Given the description of an element on the screen output the (x, y) to click on. 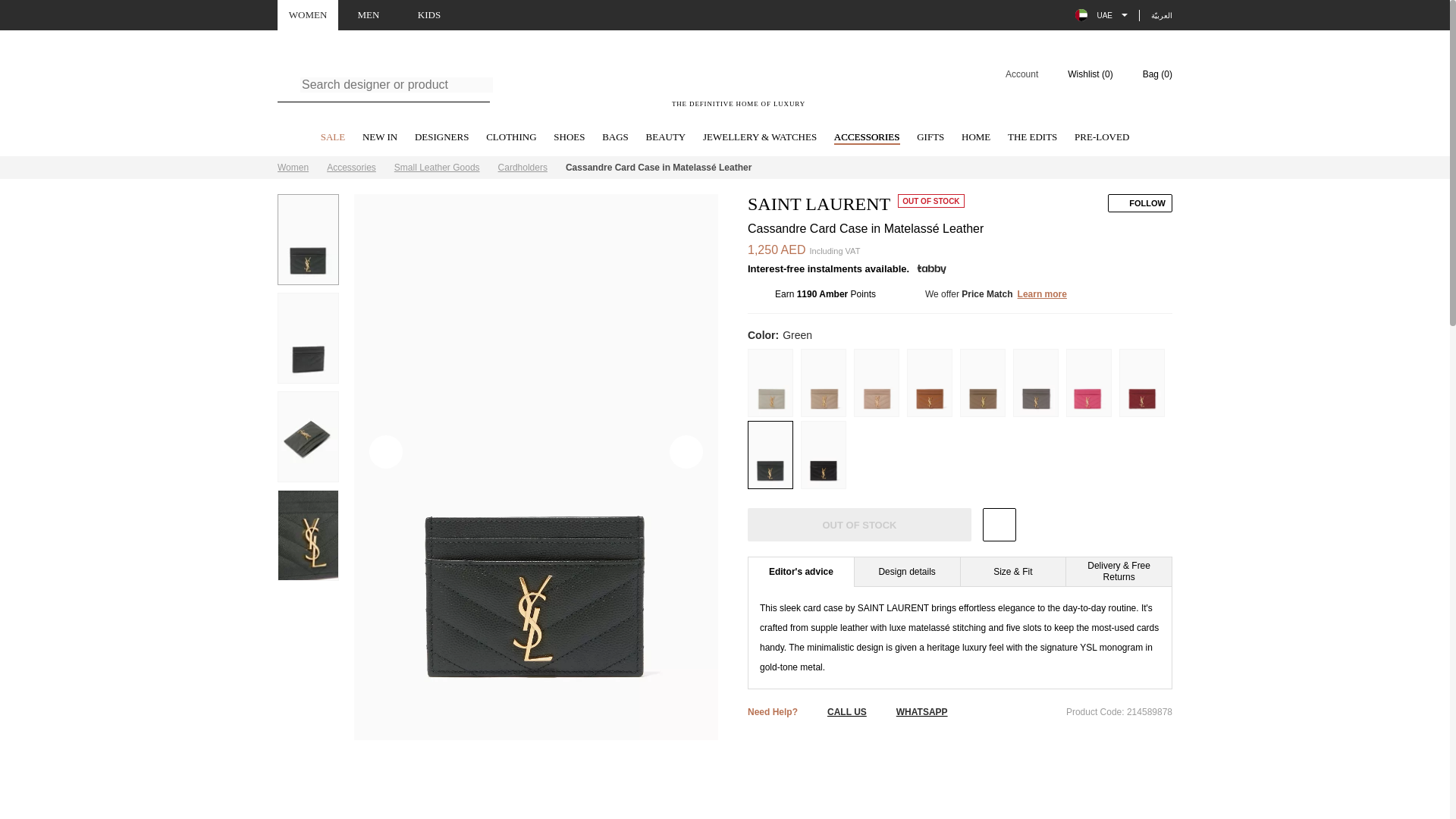
PRE-LOVED (1101, 137)
HOME (975, 137)
SHOES (569, 137)
CLOTHING (510, 137)
ACCESSORIES (866, 137)
Account (1012, 73)
Women (293, 167)
THE DEFINITIVE HOME OF LUXURY (738, 83)
GIFTS (930, 137)
MEN (367, 15)
BEAUTY (665, 137)
WOMEN (307, 15)
BAGS (615, 137)
Accessories (350, 167)
SALE (333, 137)
